Given the description of an element on the screen output the (x, y) to click on. 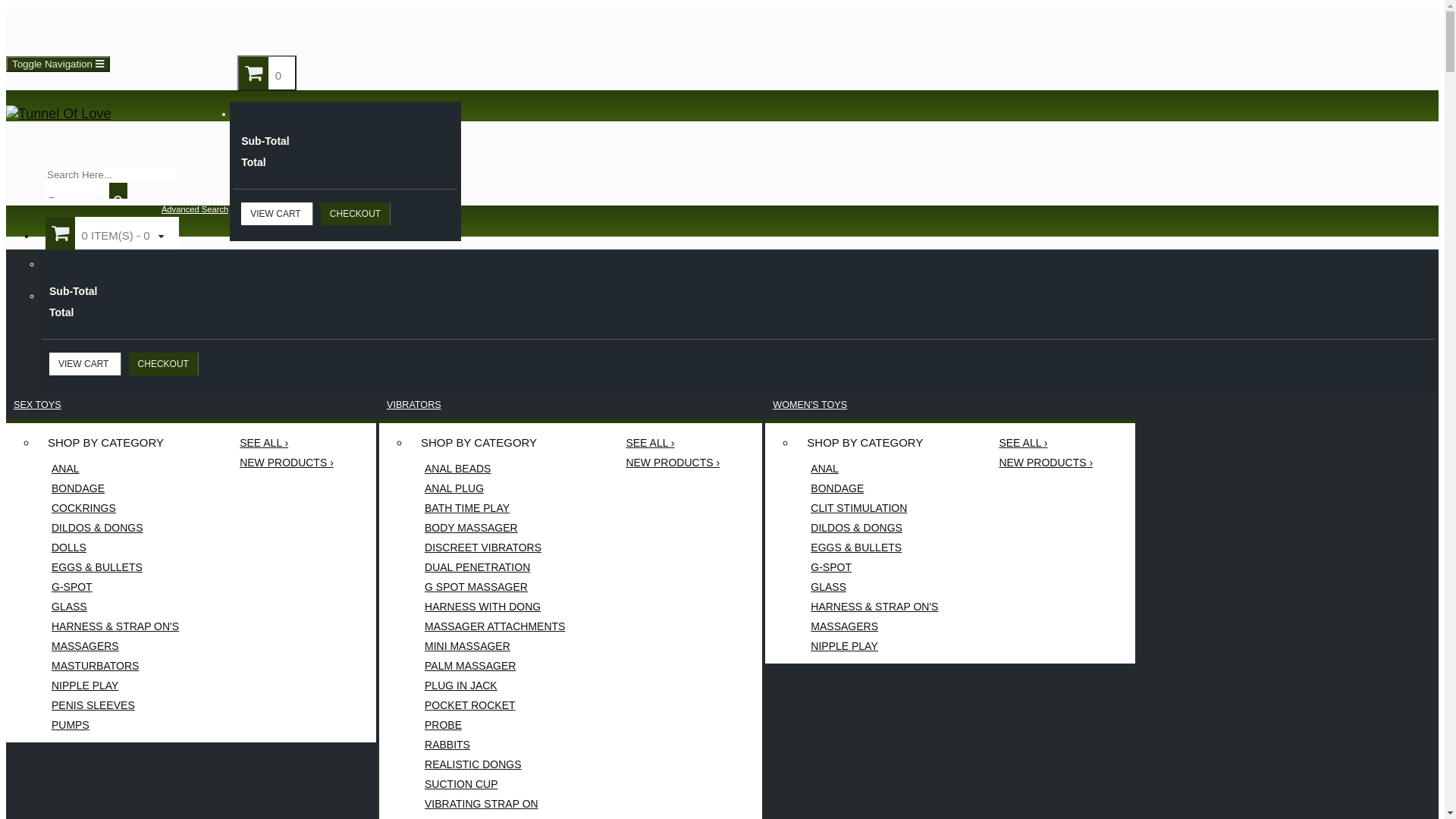
CAD Element type: text (1426, 108)
MASSAGERS Element type: text (874, 626)
MASTURBATORS Element type: text (115, 665)
Help Element type: hover (97, 30)
PROBE Element type: text (494, 724)
DISCREET VIBRATORS Element type: text (494, 547)
G-SPOT Element type: text (874, 567)
GBP Element type: text (1426, 75)
0 Element type: text (266, 73)
POCKET ROCKET Element type: text (494, 705)
Register Element type: text (276, 29)
PLUG IN JACK Element type: text (494, 685)
Create Wishlist Element type: text (190, 29)
BODY MASSAGER Element type: text (494, 527)
EGGS & BULLETS Element type: text (874, 547)
SUCTION CUP Element type: text (494, 783)
MASSAGERS Element type: text (115, 645)
DOLLS Element type: text (115, 547)
CLIT STIMULATION Element type: text (874, 507)
CNY Element type: text (1426, 91)
DUAL PENETRATION Element type: text (494, 567)
VIBRATORS Element type: text (413, 404)
EGGS & BULLETS Element type: text (115, 567)
G-SPOT Element type: text (115, 586)
ANAL Element type: text (874, 468)
Checkout Element type: text (497, 29)
GLASS Element type: text (874, 586)
NIPPLE PLAY Element type: text (874, 645)
Toggle Navigation Element type: text (57, 64)
G SPOT MASSAGER Element type: text (494, 586)
Register Element type: hover (248, 30)
RABBITS Element type: text (494, 744)
DILDOS & DONGS Element type: text (115, 527)
MINI MASSAGER Element type: text (494, 645)
NIPPLE PLAY Element type: text (115, 685)
BONDAGE Element type: text (874, 488)
VIBRATING STRAP ON Element type: text (494, 803)
EUR Element type: text (1426, 58)
Help Element type: text (116, 29)
REALISTIC DONGS Element type: text (494, 764)
PUMPS Element type: text (115, 724)
PENIS SLEEVES Element type: text (115, 705)
PALM MASSAGER Element type: text (494, 665)
ANAL PLUG Element type: text (494, 488)
Shopping Cart Element type: hover (369, 30)
CHECKOUT Element type: text (163, 363)
Shopping Cart Element type: text (411, 29)
Tunnel Of Love Element type: hover (58, 113)
Create Wish List Element type: hover (146, 30)
COCKRINGS Element type: text (115, 507)
0 ITEM(S) - 0 Element type: text (111, 232)
Checkout Element type: hover (466, 30)
BATH TIME PLAY Element type: text (494, 507)
Login Element type: hover (315, 30)
HARNESS & STRAP ON'S Element type: text (874, 606)
WOMEN'S TOYS Element type: text (809, 404)
HARNESS & STRAP ON'S Element type: text (115, 626)
Home Element type: hover (41, 30)
ANAL BEADS Element type: text (494, 468)
GLASS Element type: text (115, 606)
CHECKOUT Element type: text (355, 213)
USD Element type: text (1426, 41)
MASSAGER ATTACHMENTS Element type: text (494, 626)
Home Element type: text (63, 29)
DILDOS & DONGS Element type: text (874, 527)
AUD Element type: text (1426, 24)
Login Element type: text (336, 29)
Currency Element type: text (1351, 15)
BONDAGE Element type: text (115, 488)
VIEW CART Element type: text (85, 363)
Advanced Search Element type: text (194, 209)
VIEW CART Element type: text (277, 213)
ANAL Element type: text (115, 468)
HARNESS WITH DONG Element type: text (494, 606)
SEX TOYS Element type: text (37, 404)
